Given the description of an element on the screen output the (x, y) to click on. 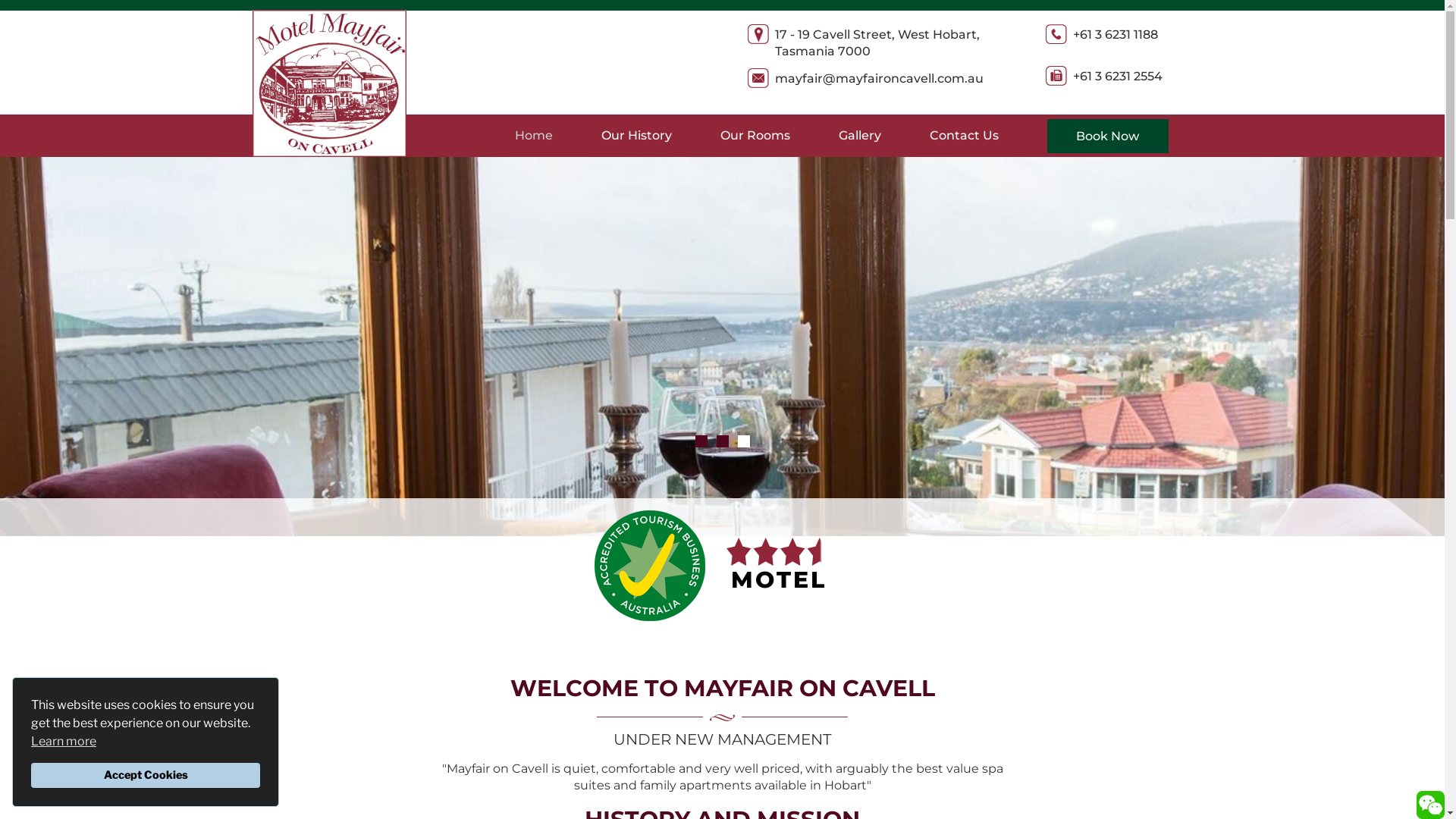
Our History Element type: text (635, 135)
Gallery Element type: text (859, 135)
Our Rooms Element type: text (755, 135)
Learn more Element type: text (63, 741)
Book Now Element type: text (1106, 136)
mayfair@mayfaironcavell.com.au Element type: text (879, 78)
Accept Cookies Element type: text (145, 774)
+61 3 6231 2554 Element type: text (1117, 76)
Home Element type: text (533, 135)
Contact Us Element type: text (963, 135)
+61 3 6231 1188 Element type: text (1115, 34)
